Given the description of an element on the screen output the (x, y) to click on. 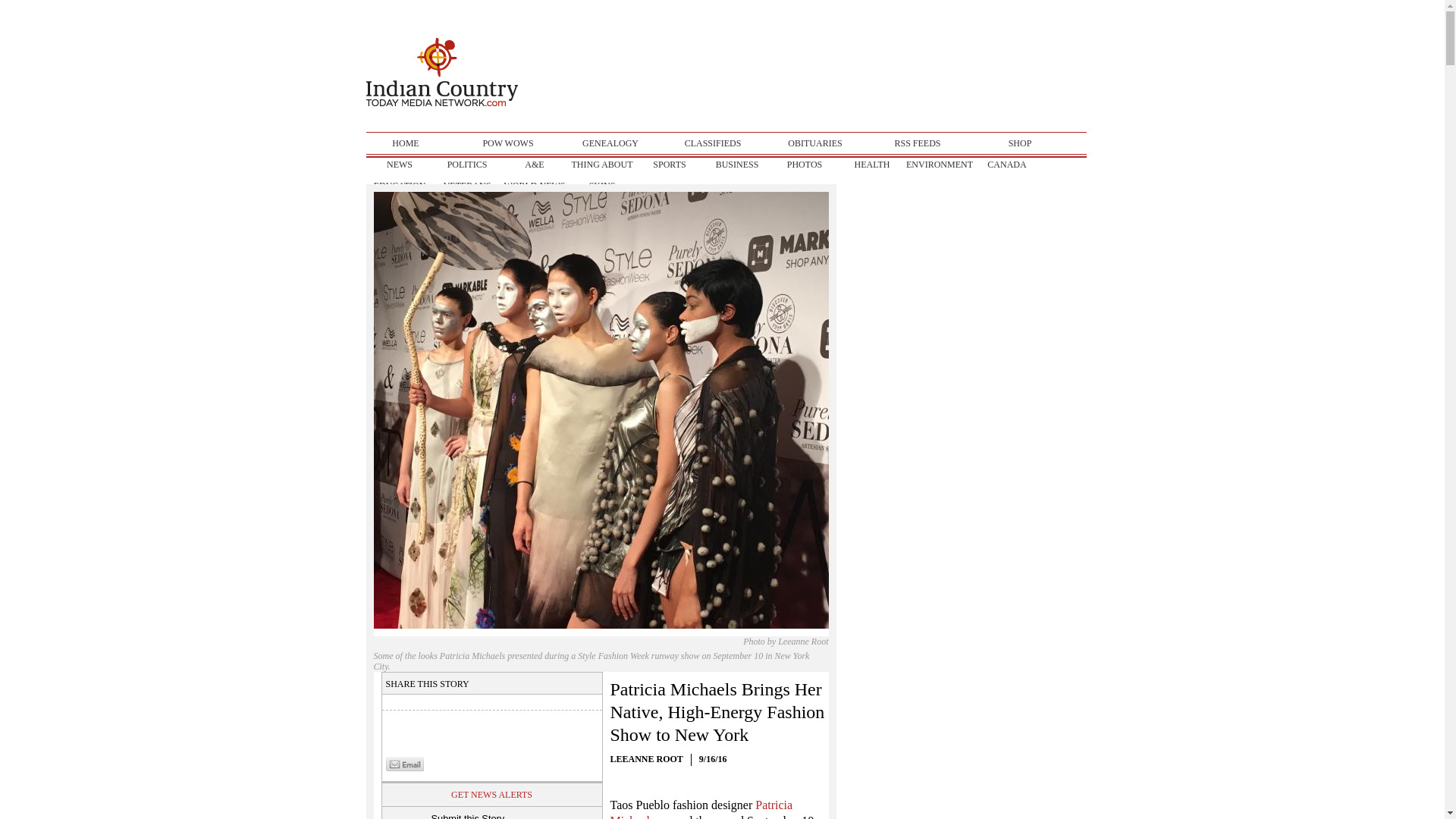
SPORTS (668, 164)
HOME (405, 142)
GENEALOGY (609, 142)
CLASSIFIEDS (712, 142)
VETERANS (466, 185)
ENVIRONMENT (938, 164)
POLITICS (466, 164)
HEALTH (871, 164)
CANADA (1007, 164)
NEWS (398, 164)
WORLD NEWS (533, 185)
EDUCATION (398, 185)
